Given the description of an element on the screen output the (x, y) to click on. 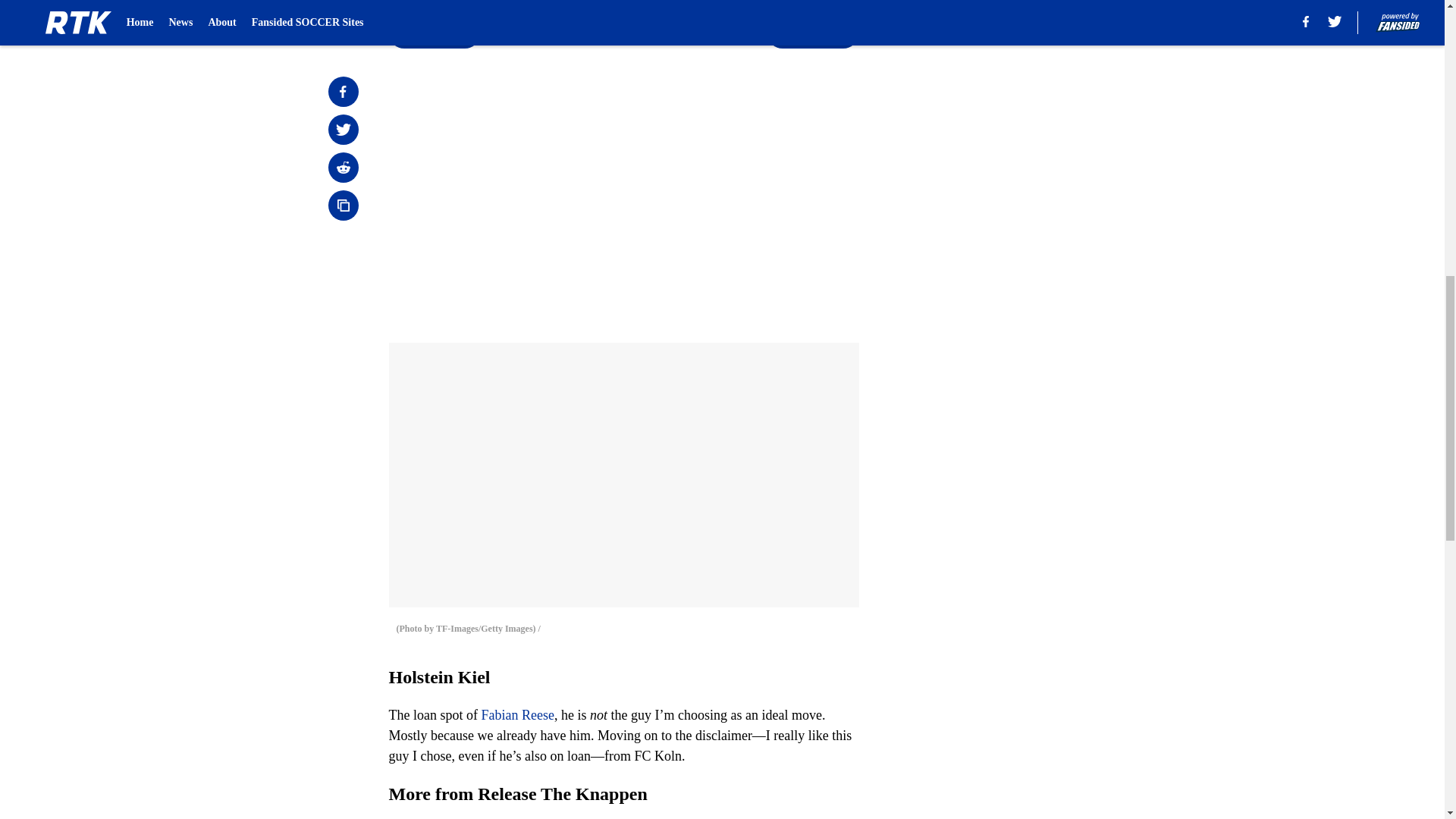
Fabian Reese (516, 714)
Next (813, 33)
Prev (433, 33)
